Given the description of an element on the screen output the (x, y) to click on. 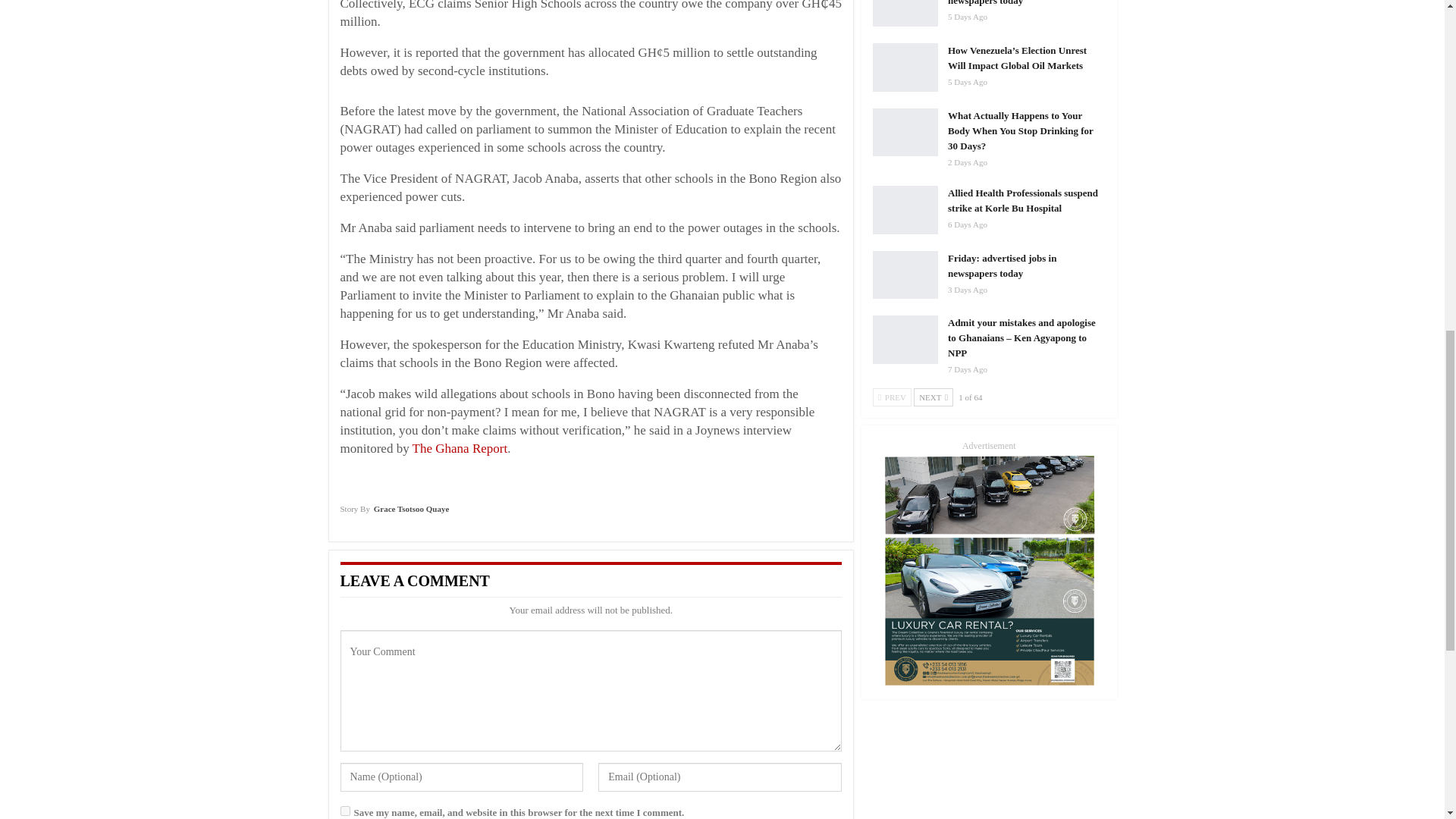
Browse Author Articles (393, 513)
yes (344, 810)
The Ghana Report (460, 448)
Story By Grace Tsotsoo Quaye (393, 513)
